Given the description of an element on the screen output the (x, y) to click on. 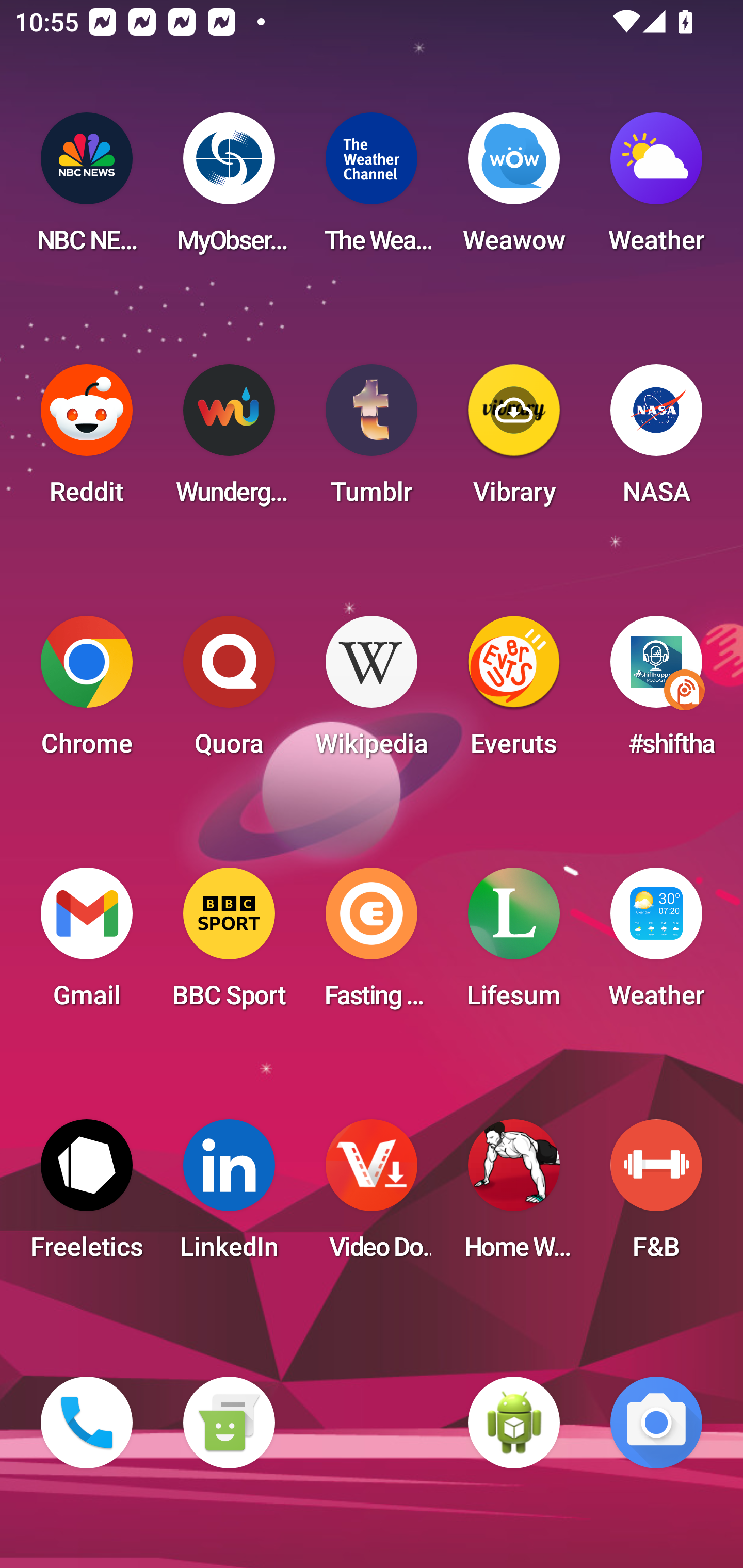
NBC NEWS (86, 188)
MyObservatory (228, 188)
The Weather Channel (371, 188)
Weawow (513, 188)
Weather (656, 188)
Reddit (86, 440)
Wunderground (228, 440)
Tumblr (371, 440)
Vibrary (513, 440)
NASA (656, 440)
Chrome (86, 692)
Quora (228, 692)
Wikipedia (371, 692)
Everuts (513, 692)
#shifthappens in the Digital Workplace Podcast (656, 692)
Gmail (86, 943)
BBC Sport (228, 943)
Fasting Coach (371, 943)
Lifesum (513, 943)
Weather (656, 943)
Freeletics (86, 1195)
LinkedIn (228, 1195)
Video Downloader & Ace Player (371, 1195)
Home Workout (513, 1195)
F&B (656, 1195)
Phone (86, 1422)
Messaging (228, 1422)
WebView Browser Tester (513, 1422)
Camera (656, 1422)
